Given the description of an element on the screen output the (x, y) to click on. 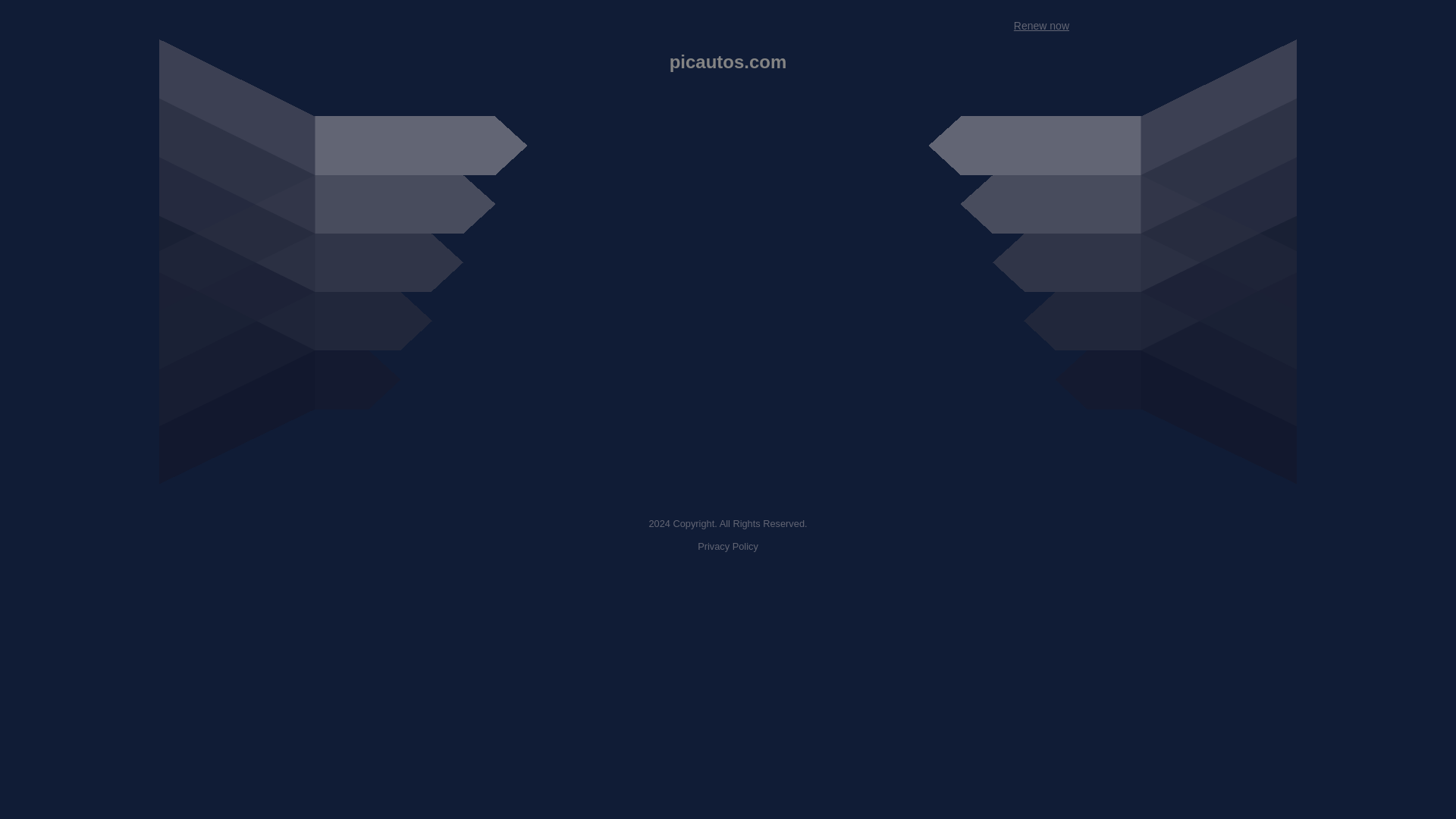
Privacy Policy (727, 546)
Renew now (1040, 25)
